Given the description of an element on the screen output the (x, y) to click on. 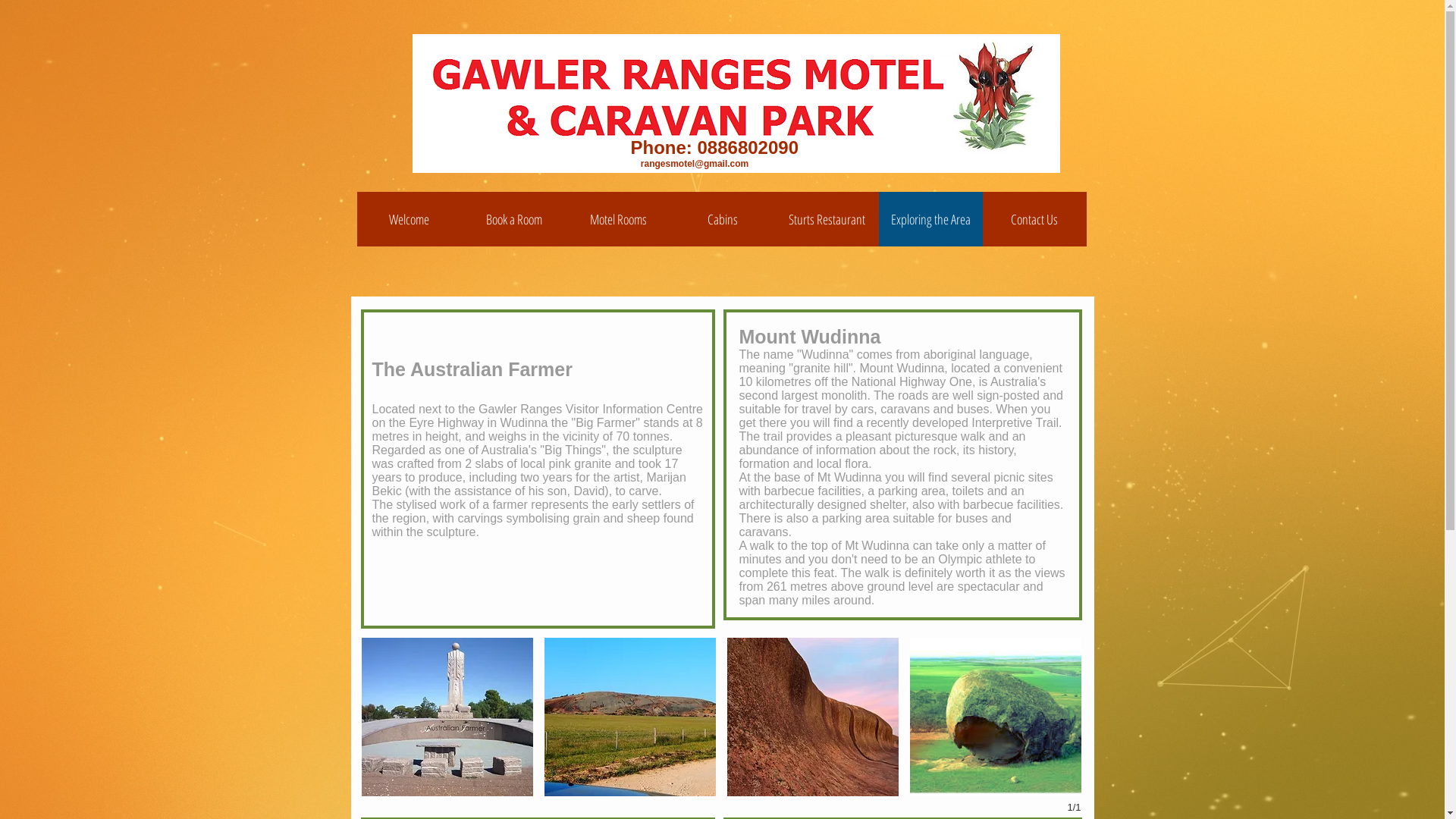
Sturts Restaurant Element type: text (826, 218)
Motel Rooms Element type: text (617, 218)
Welcome Element type: text (408, 218)
Book a Room Element type: text (513, 218)
Exploring the Area Element type: text (930, 218)
Contact Us Element type: text (1034, 218)
Cabins Element type: text (722, 218)
